Given the description of an element on the screen output the (x, y) to click on. 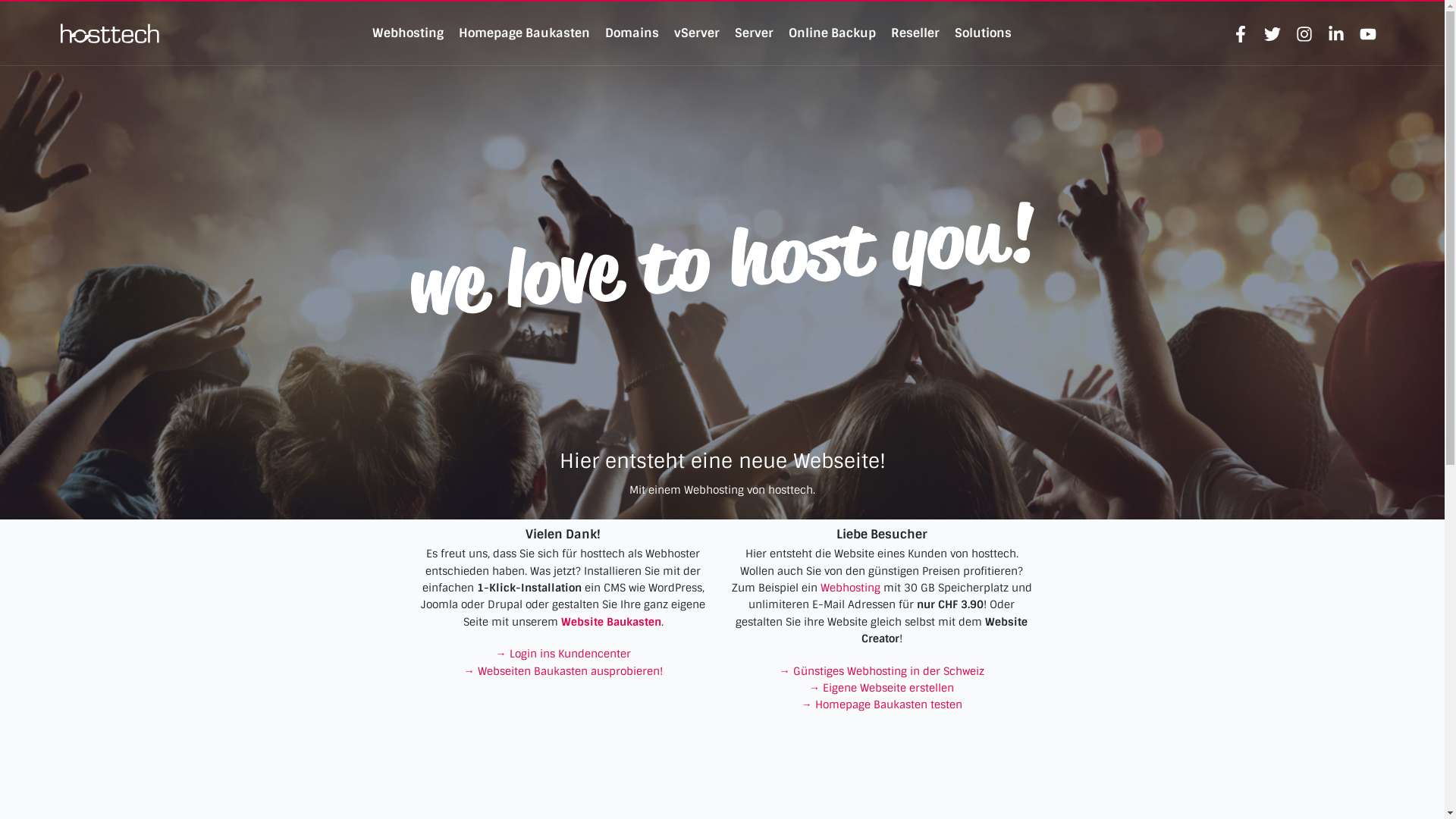
Solutions Element type: text (982, 32)
Website Baukasten Element type: text (611, 621)
vServer Element type: text (696, 32)
Server Element type: text (753, 32)
Online Backup Element type: text (831, 32)
Webhosting Element type: text (407, 32)
Webhosting Element type: text (850, 587)
Reseller Element type: text (915, 32)
Homepage Baukasten Element type: text (523, 32)
Domains Element type: text (631, 32)
